Given the description of an element on the screen output the (x, y) to click on. 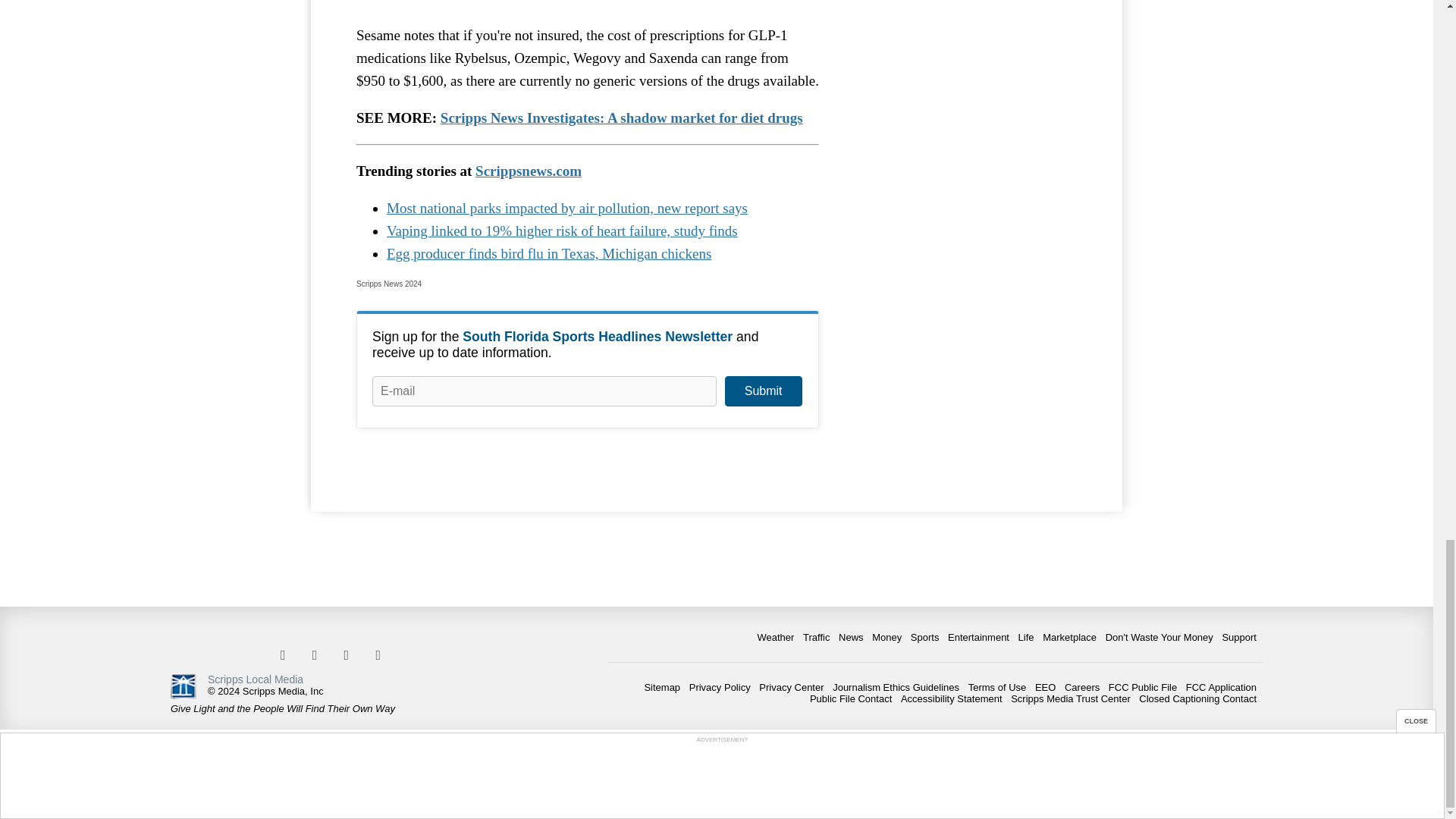
Submit (763, 390)
